Given the description of an element on the screen output the (x, y) to click on. 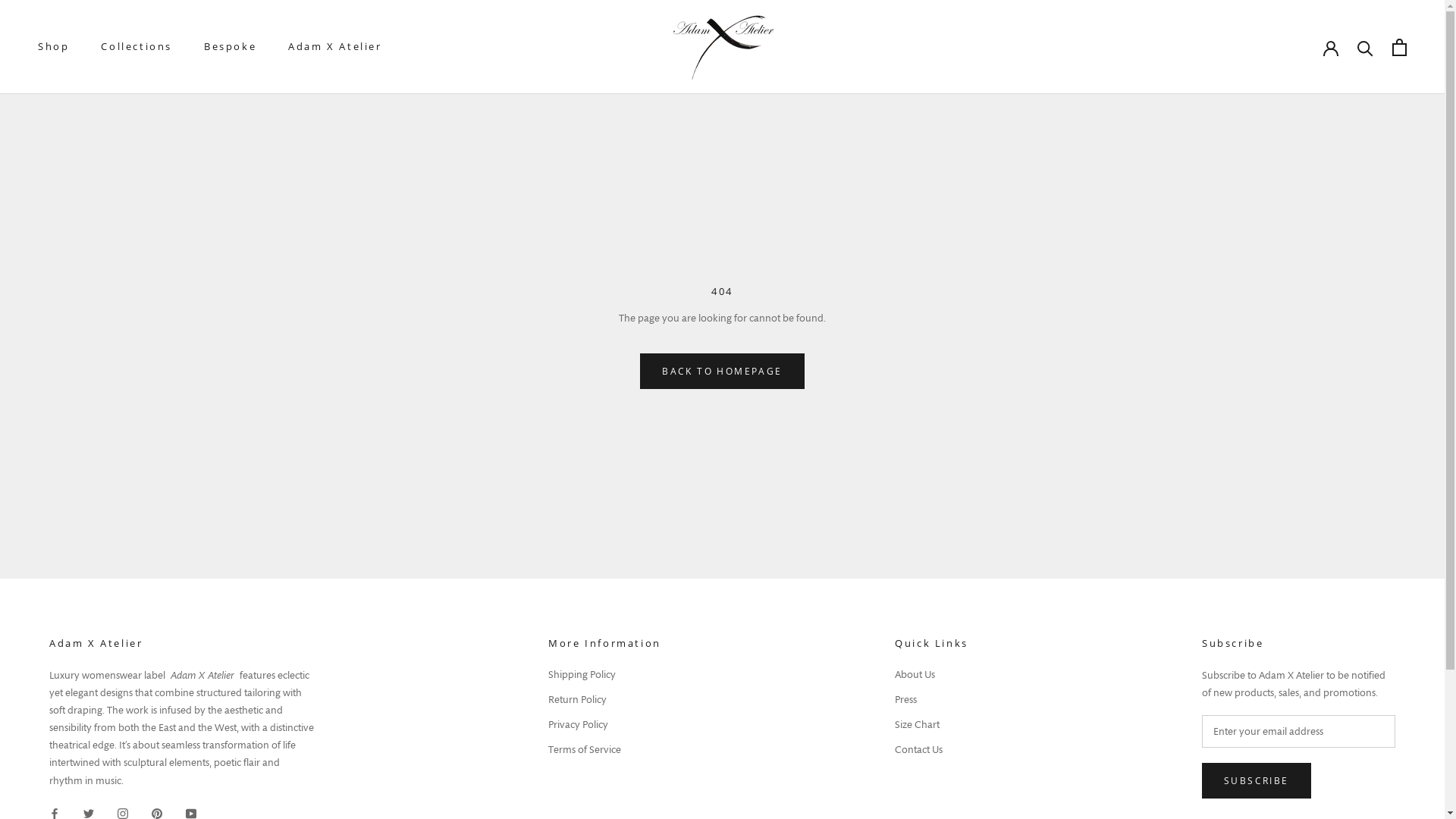
Return Policy Element type: text (604, 699)
Shipping Policy Element type: text (604, 674)
Collections Element type: text (136, 46)
SUBSCRIBE Element type: text (1256, 780)
Adam X Atelier Element type: text (334, 46)
About Us Element type: text (931, 674)
BACK TO HOMEPAGE Element type: text (721, 371)
Privacy Policy Element type: text (604, 724)
Shop Element type: text (53, 46)
Press Element type: text (931, 699)
Contact Us Element type: text (931, 749)
Bespoke
Bespoke Element type: text (229, 46)
Terms of Service Element type: text (604, 749)
Size Chart Element type: text (931, 724)
